Given the description of an element on the screen output the (x, y) to click on. 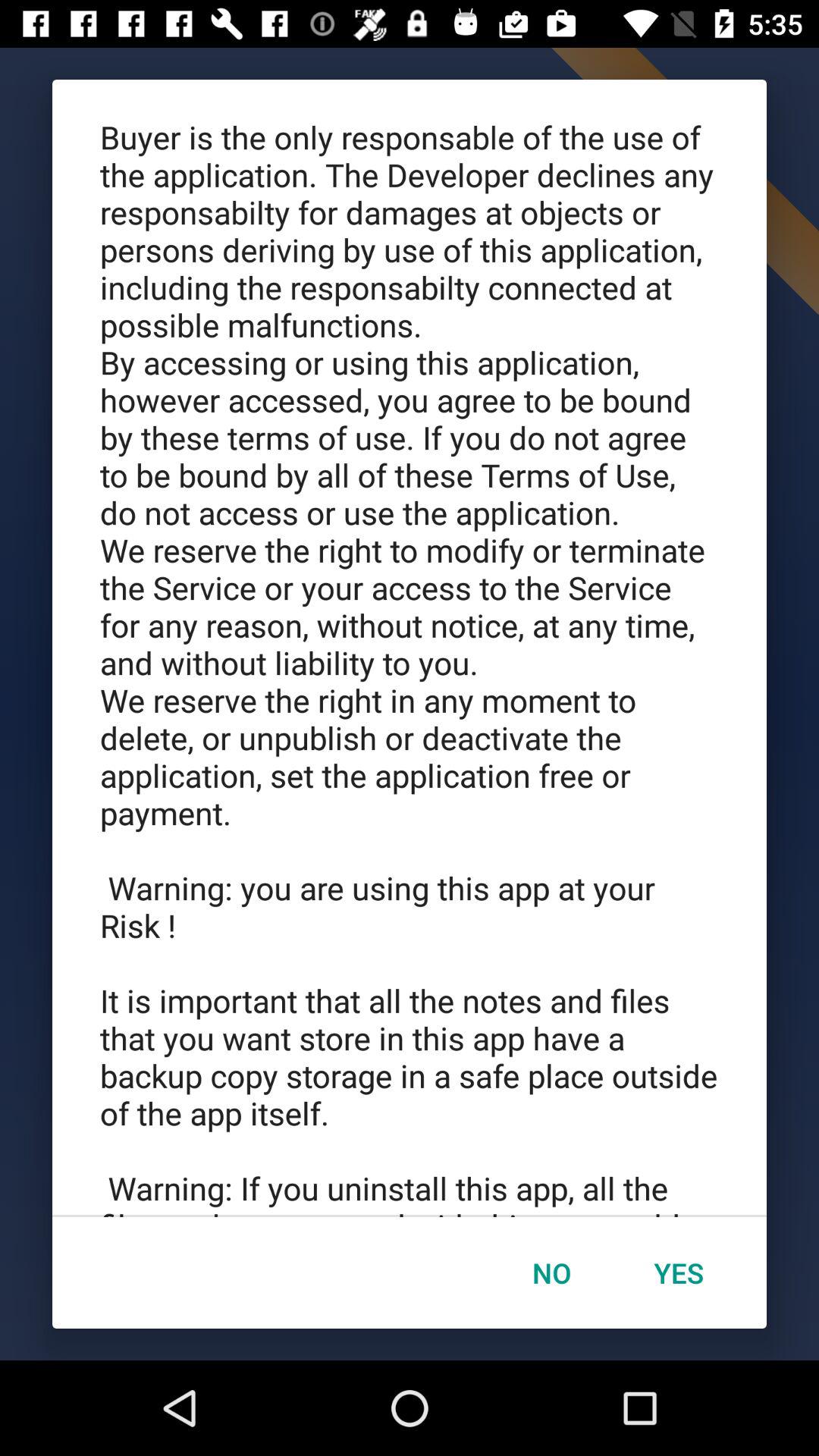
select icon next to yes (551, 1272)
